Given the description of an element on the screen output the (x, y) to click on. 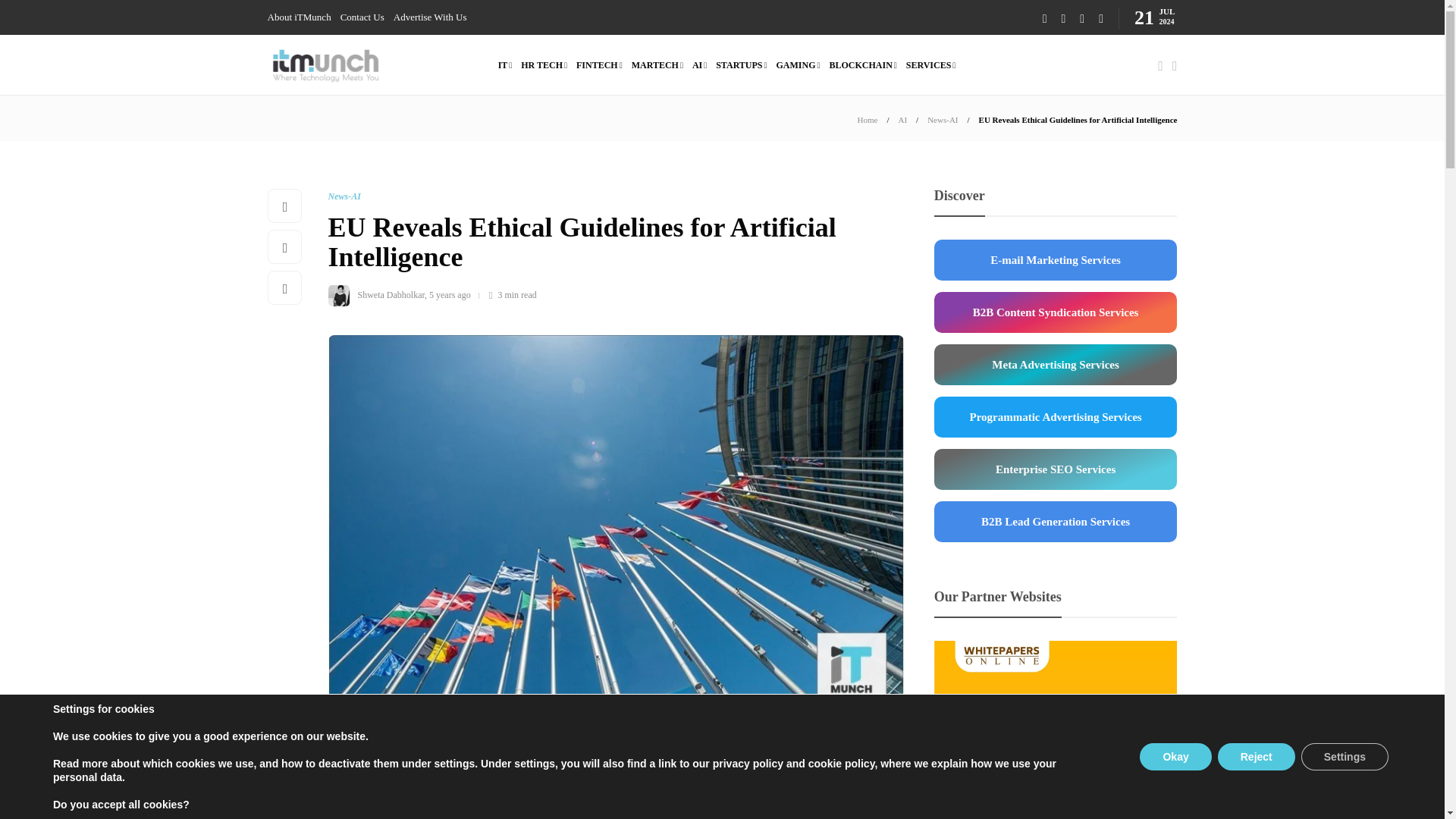
Home (867, 119)
EU Reveals Ethical Guidelines for Artificial Intelligence (1077, 119)
